Given the description of an element on the screen output the (x, y) to click on. 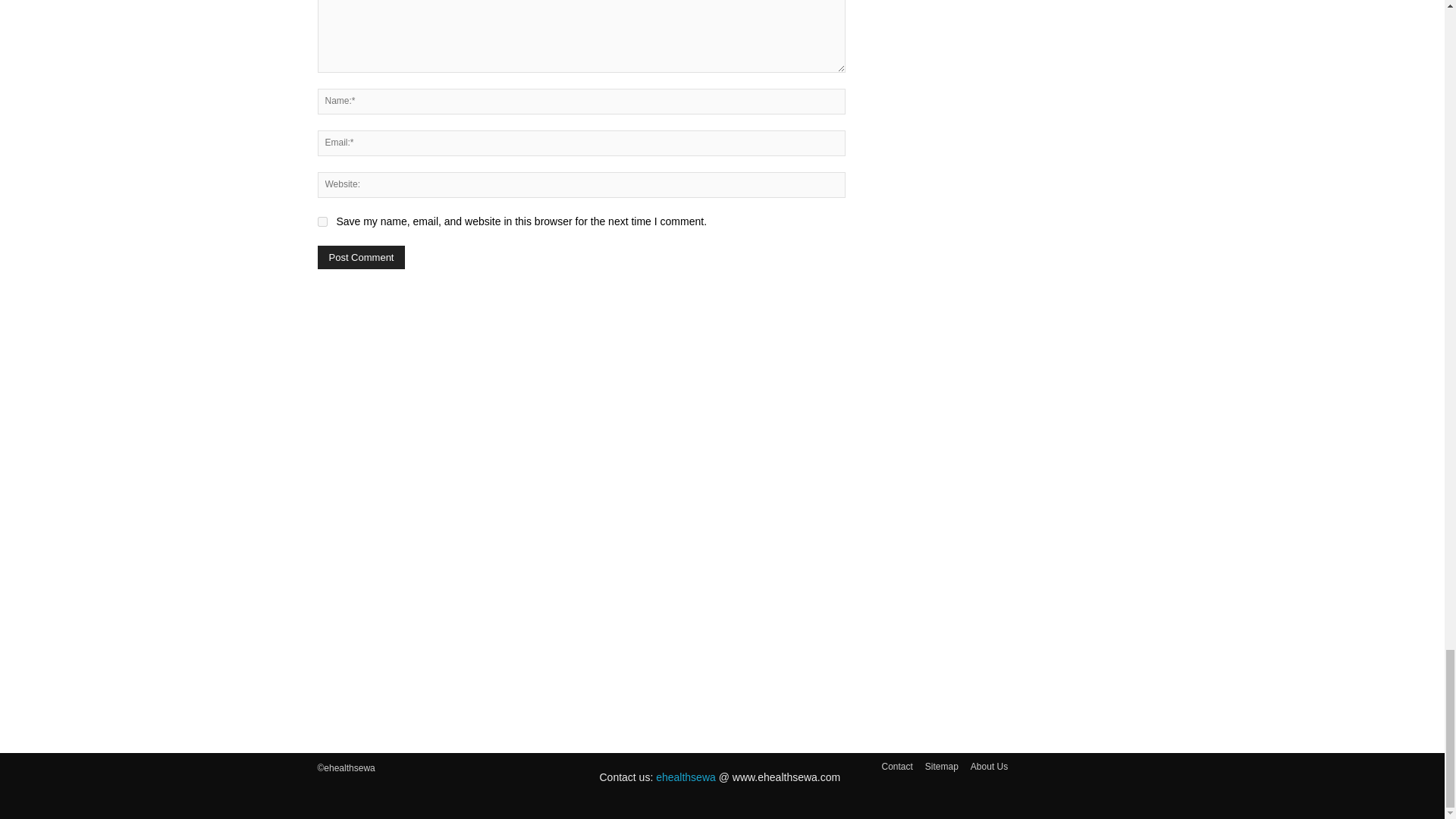
Post Comment (360, 257)
yes (321, 221)
